Given the description of an element on the screen output the (x, y) to click on. 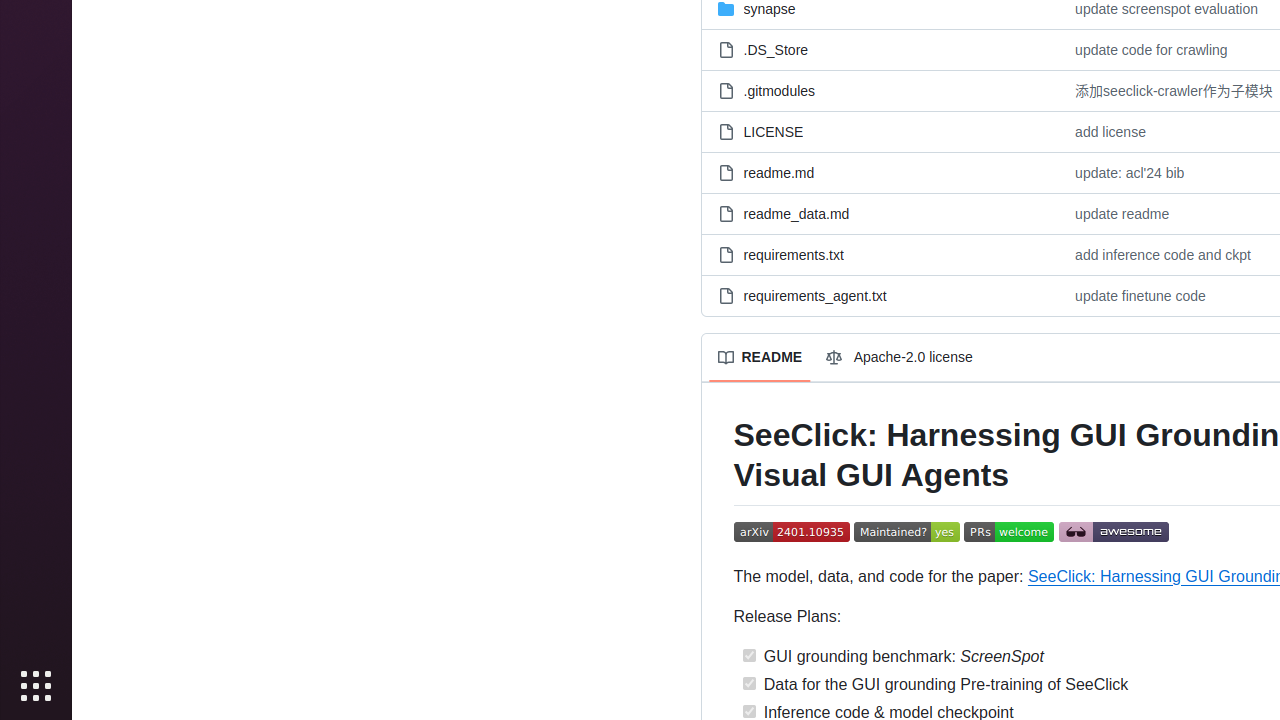
Permalink: SeeClick: Harnessing GUI Grounding for Advanced Visual GUI Agents Element type: link (719, 455)
update code for crawling Element type: link (1151, 49)
添加seeclick-crawler作为子模块 Element type: link (1174, 90)
